Given the description of an element on the screen output the (x, y) to click on. 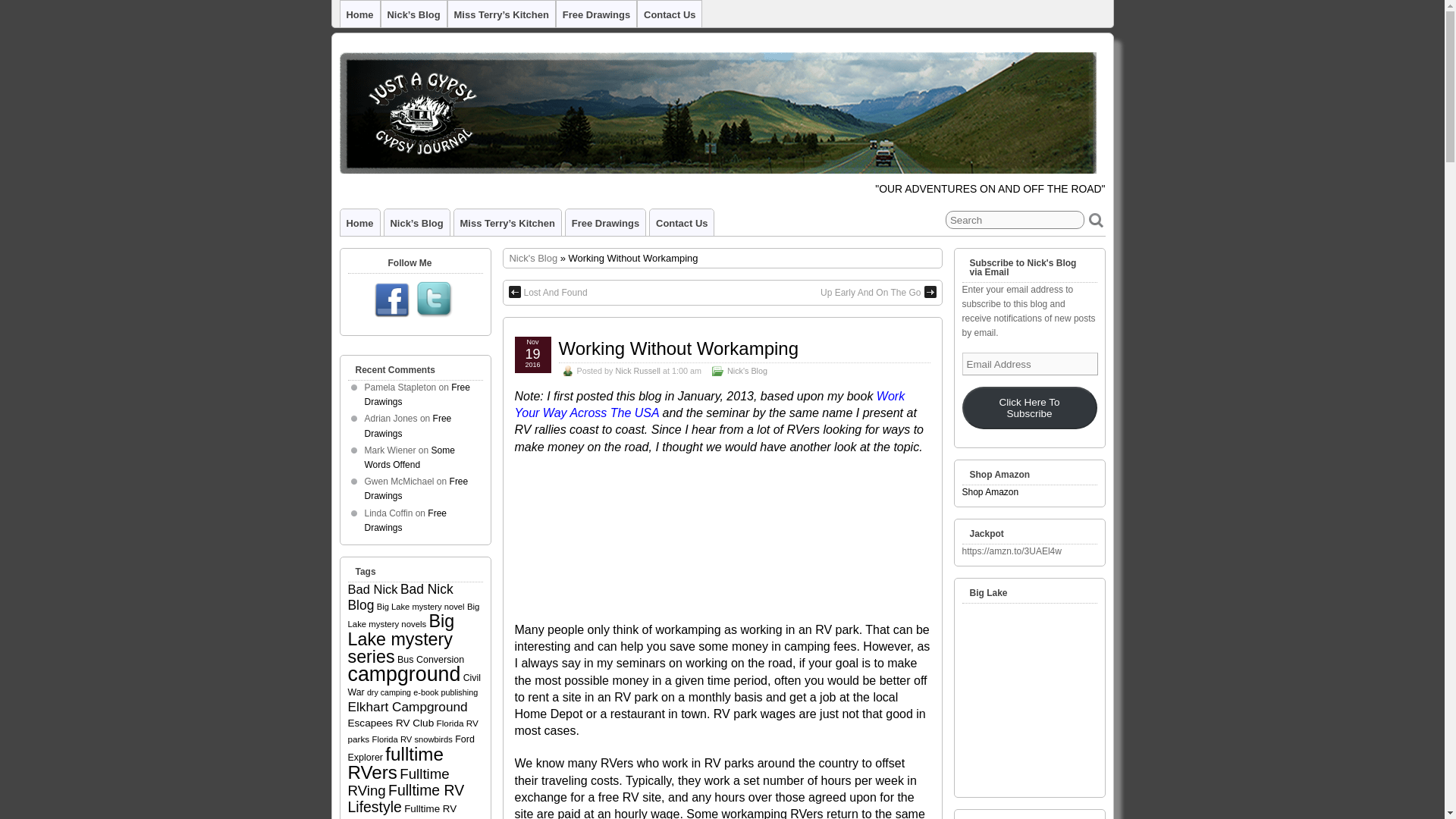
Work Your Way Across The USA (708, 404)
Contact Us (681, 222)
Home (358, 222)
Nick's Blog (533, 257)
Home (358, 13)
  Lost And Found (547, 292)
Free Drawings (596, 13)
Nick's Blog (533, 257)
Facebook (392, 301)
  Up Early And On The Go (878, 292)
